Given the description of an element on the screen output the (x, y) to click on. 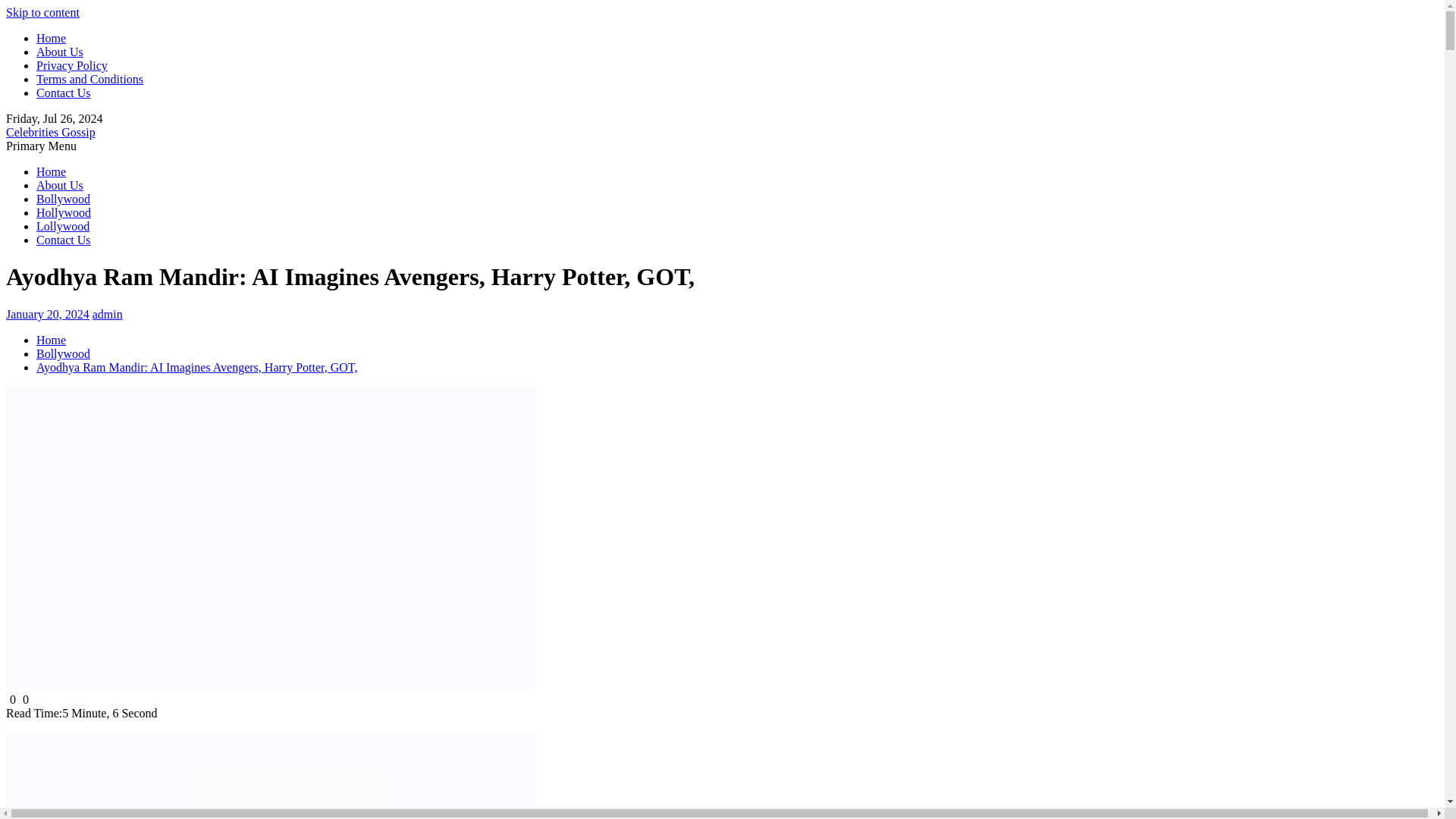
January 20, 2024 (46, 314)
Primary Menu (41, 145)
About Us (59, 185)
Lollywood (62, 226)
Skip to content (42, 11)
Home (50, 339)
Home (50, 171)
Hollywood (63, 212)
Terms and Conditions (89, 78)
Privacy Policy (71, 65)
Bollywood (63, 198)
admin (107, 314)
Bollywood (63, 353)
Home (50, 38)
Ayodhya Ram Mandir: AI Imagines Avengers, Harry Potter, GOT, (196, 367)
